Given the description of an element on the screen output the (x, y) to click on. 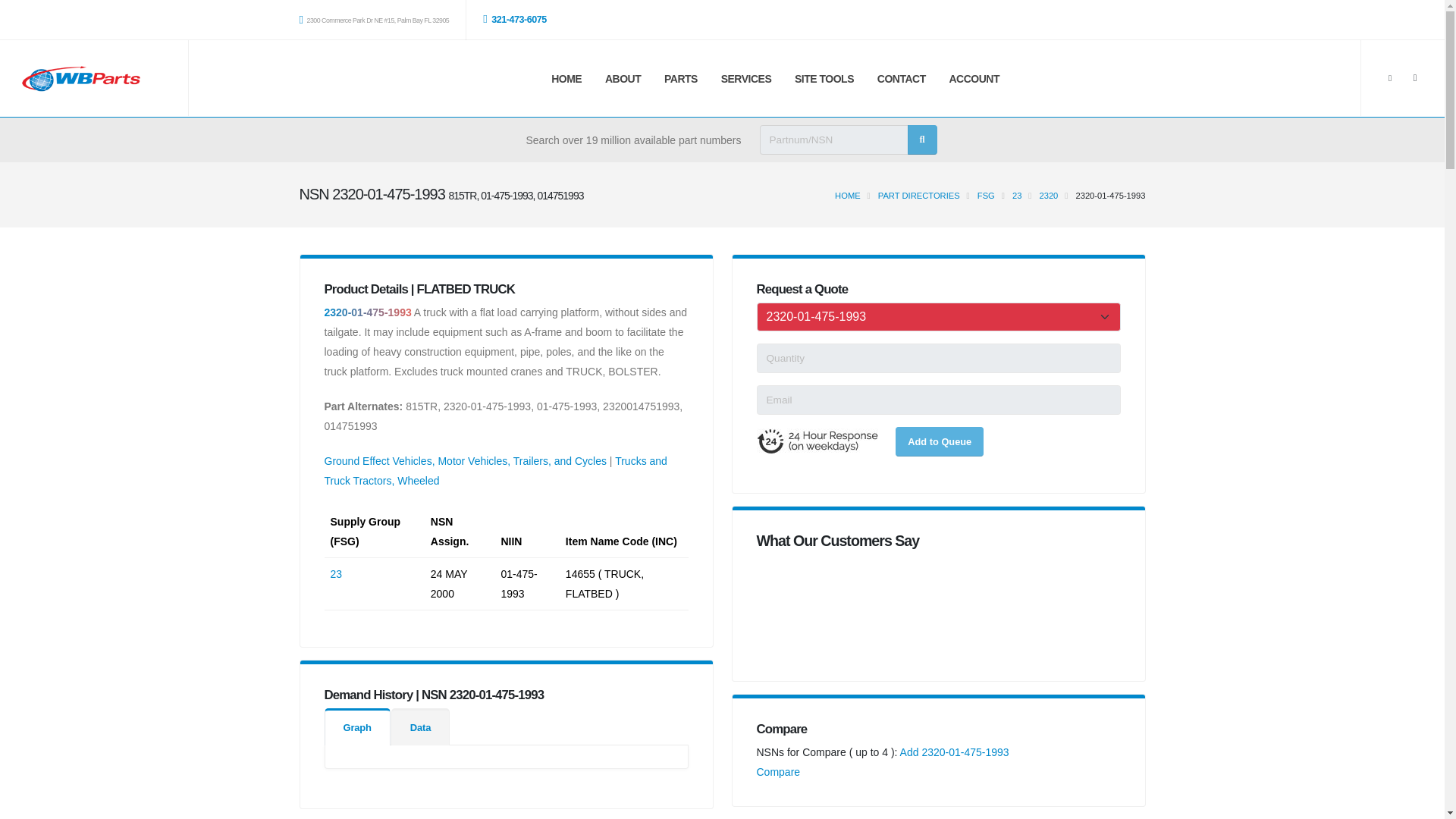
Trucks and Truck Tractors, Wheeled (495, 470)
Linkedin (1415, 77)
23 (336, 573)
CONTACT (901, 78)
HOME (847, 194)
Add to Queue (939, 440)
Ground Effect Vehicles, Motor Vehicles, Trailers, and Cycles (465, 460)
321-473-6075 (519, 18)
FSG (985, 194)
SITE TOOLS (824, 78)
